Given the description of an element on the screen output the (x, y) to click on. 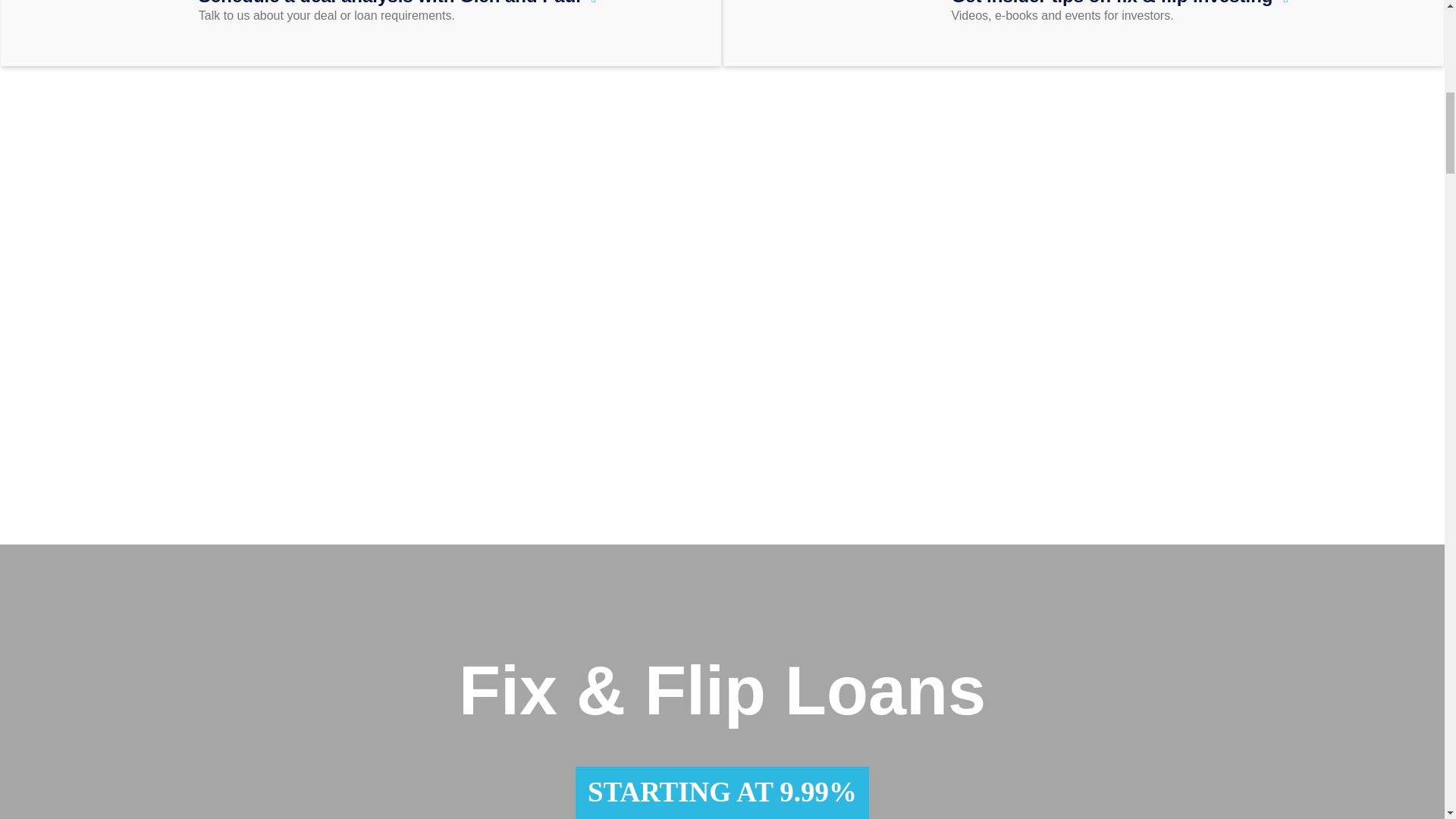
icon-lightbulb-hexagon (906, 18)
icon-phone-hexagon (154, 18)
